Given the description of an element on the screen output the (x, y) to click on. 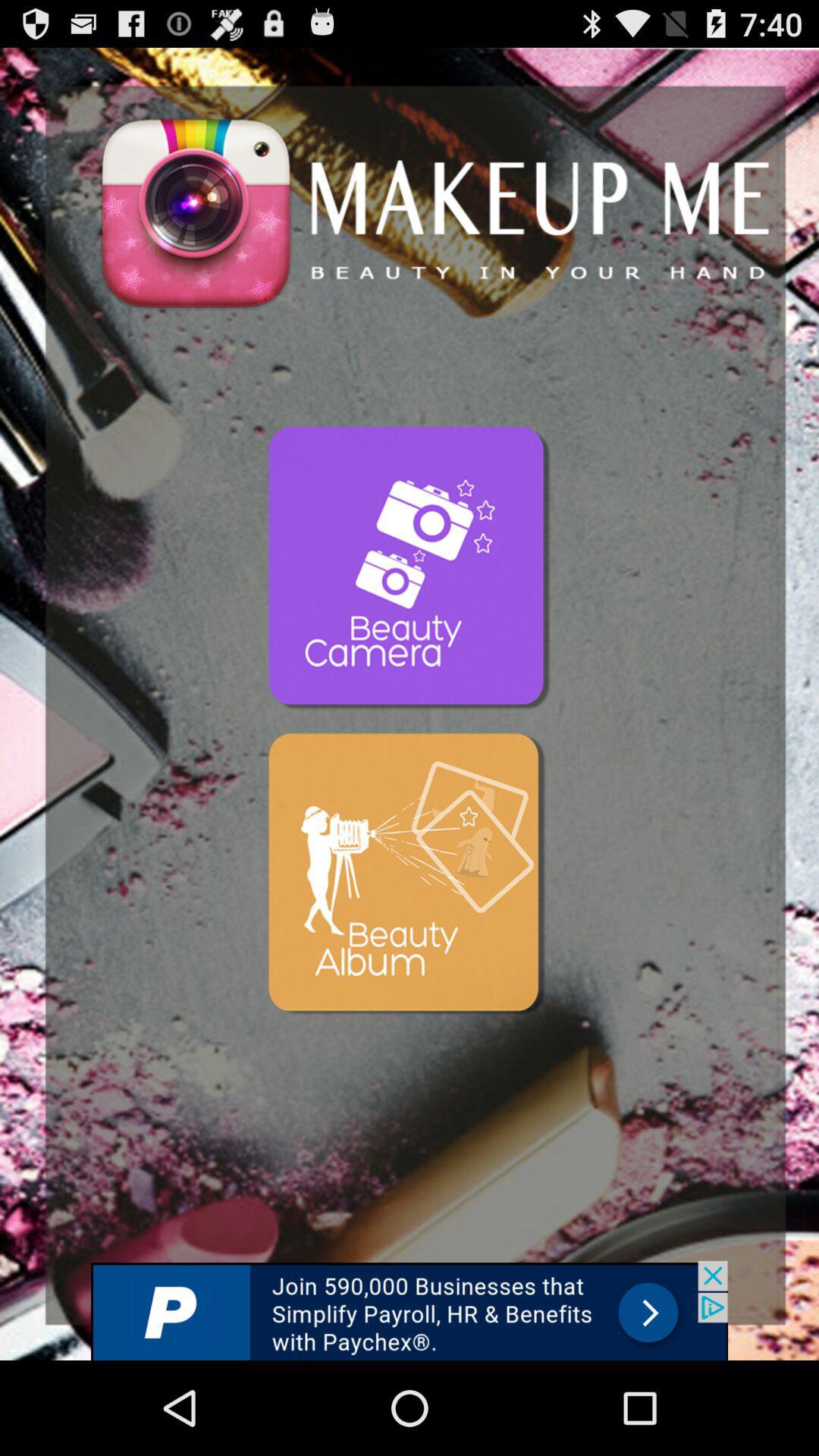
like the add (409, 1310)
